Given the description of an element on the screen output the (x, y) to click on. 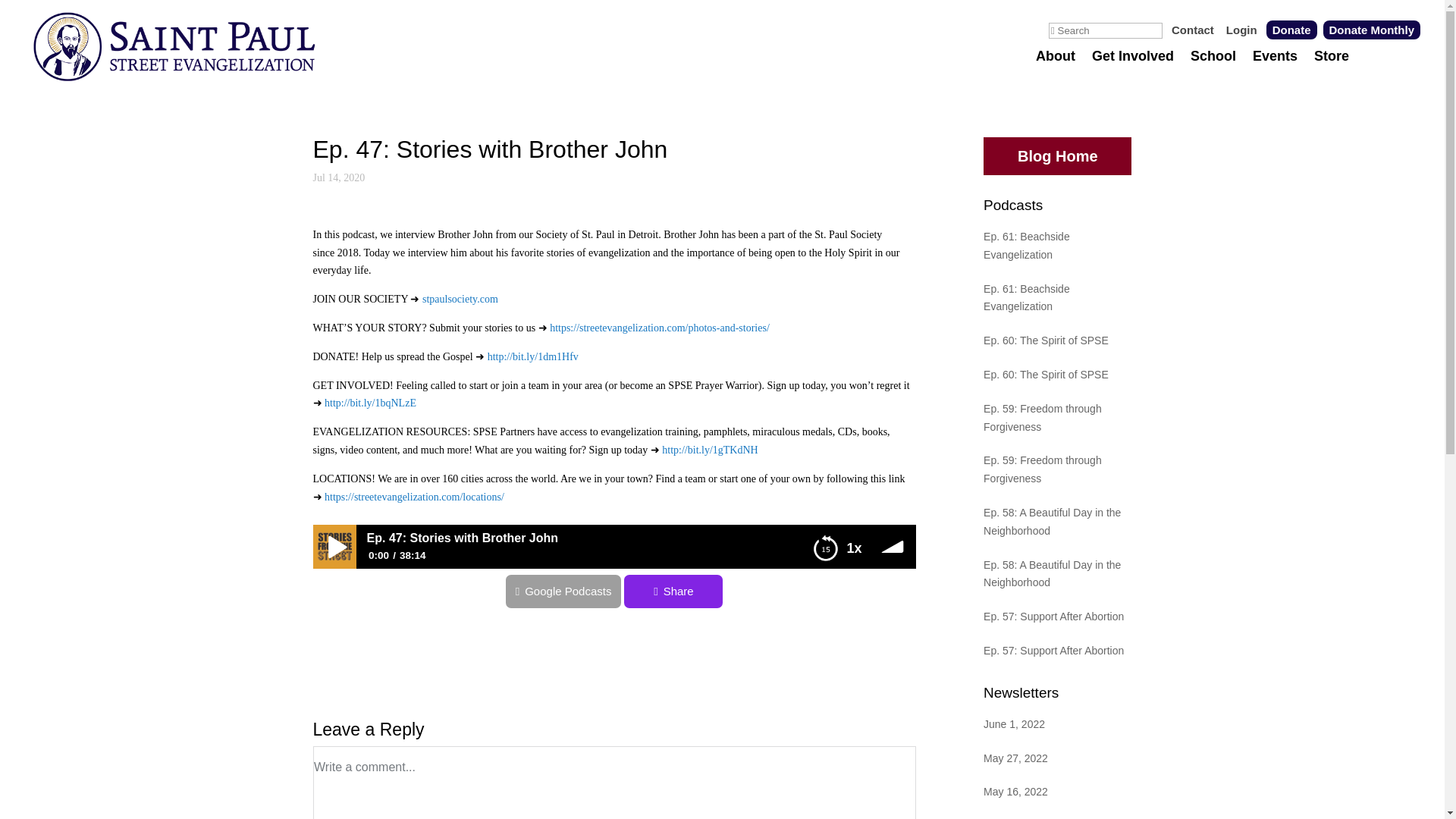
About (1055, 71)
Comment Form (614, 782)
School (1213, 71)
Events (1274, 71)
Get Involved (1132, 71)
